Given the description of an element on the screen output the (x, y) to click on. 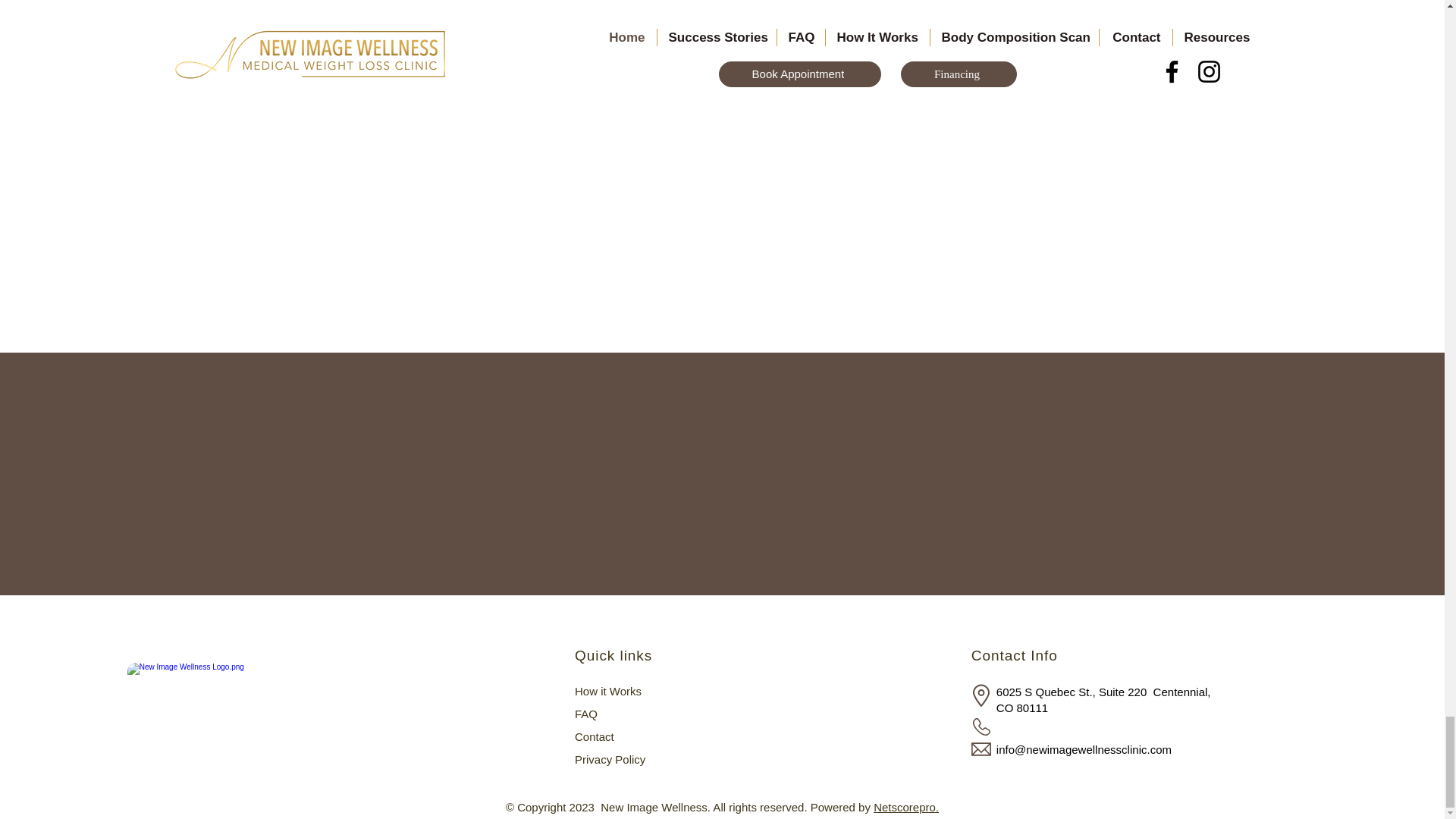
How it Works (608, 690)
Contact (594, 736)
Embedded Content (1056, 729)
Screenshot 2022-12-20 at 9.58.00 AM.png (257, 702)
FAQ (585, 713)
Netscorepro. (906, 807)
